Given the description of an element on the screen output the (x, y) to click on. 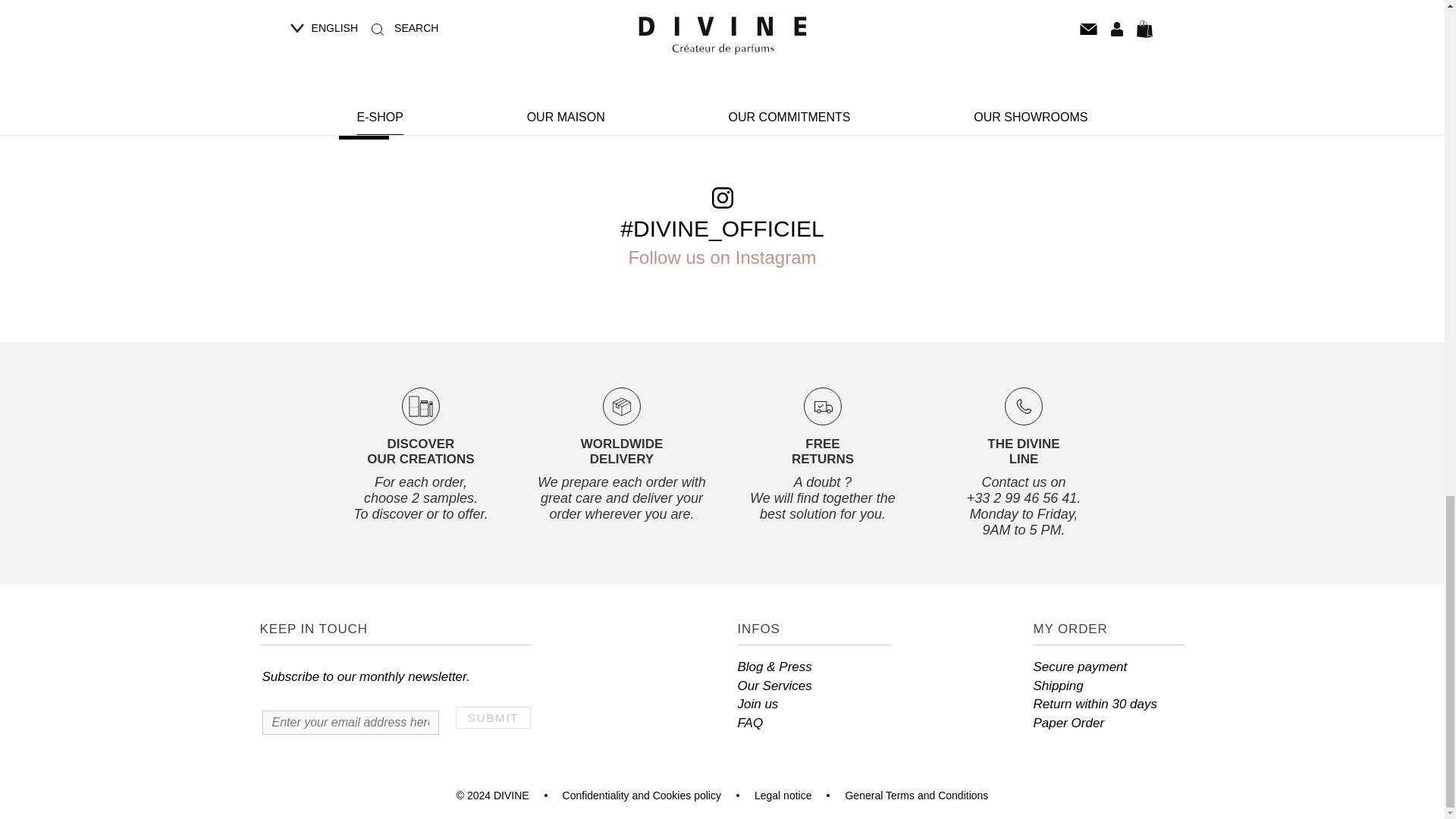
Submit (493, 717)
